Given the description of an element on the screen output the (x, y) to click on. 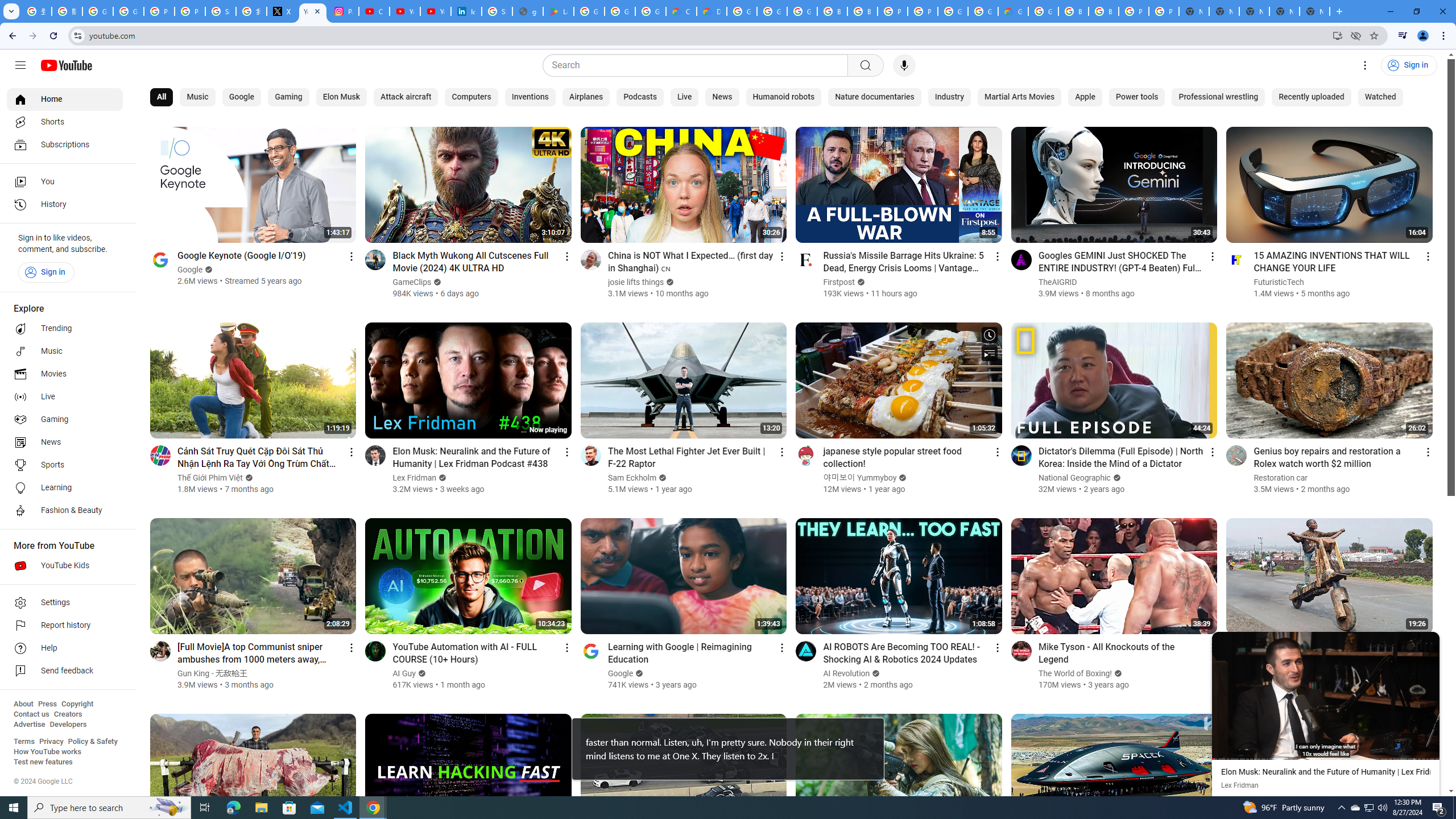
Google (241, 97)
Live (64, 396)
Airplanes (586, 97)
josie lifts things (636, 282)
Sign in (45, 272)
Home (64, 99)
New Tab (1314, 11)
Humanoid robots (783, 97)
Seek slider (1325, 758)
Nature documentaries (874, 97)
Restoration car (1280, 477)
Watched (1379, 97)
Firstpost (839, 282)
TheAIGRID (1057, 282)
